Given the description of an element on the screen output the (x, y) to click on. 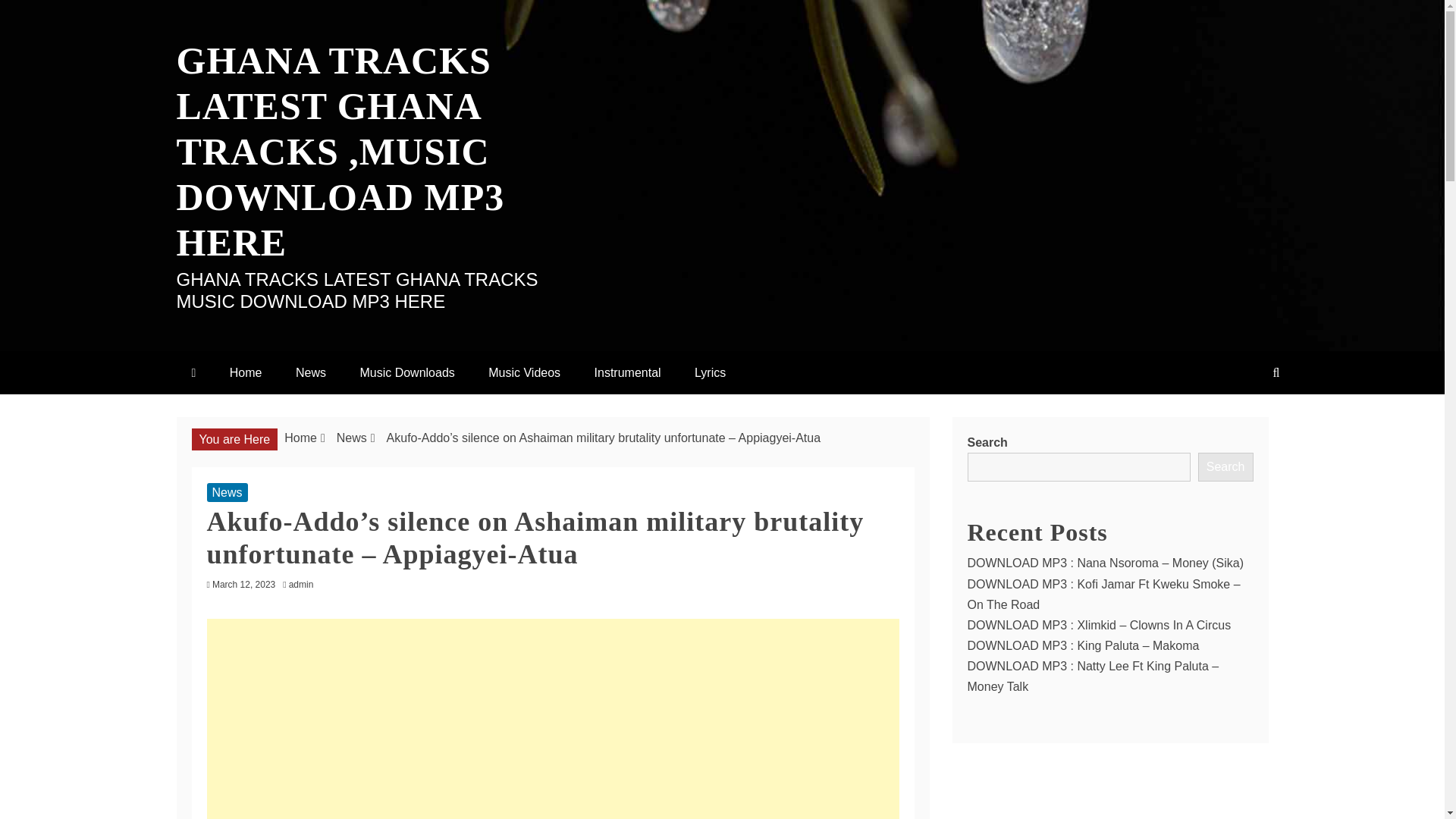
Music Downloads (405, 372)
GHANA TRACKS LATEST GHANA TRACKS ,MUSIC DOWNLOAD MP3 HERE (339, 151)
News (351, 437)
March 12, 2023 (243, 584)
News (310, 372)
News (226, 492)
Home (300, 437)
Instrumental (628, 372)
Home (246, 372)
Music Videos (524, 372)
